Given the description of an element on the screen output the (x, y) to click on. 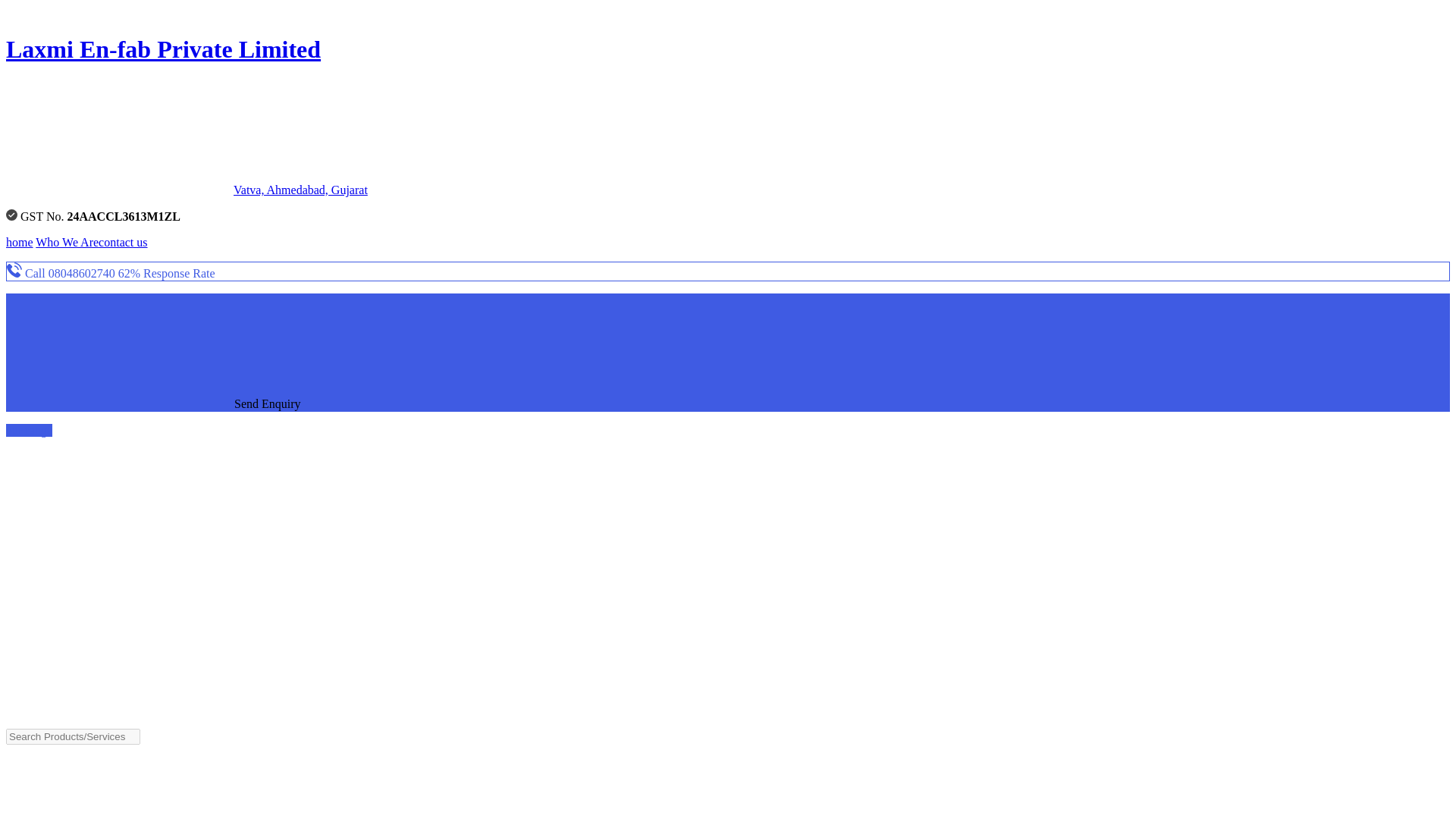
Who We Are (66, 241)
contact us (123, 241)
home (19, 241)
our range (28, 430)
